Given the description of an element on the screen output the (x, y) to click on. 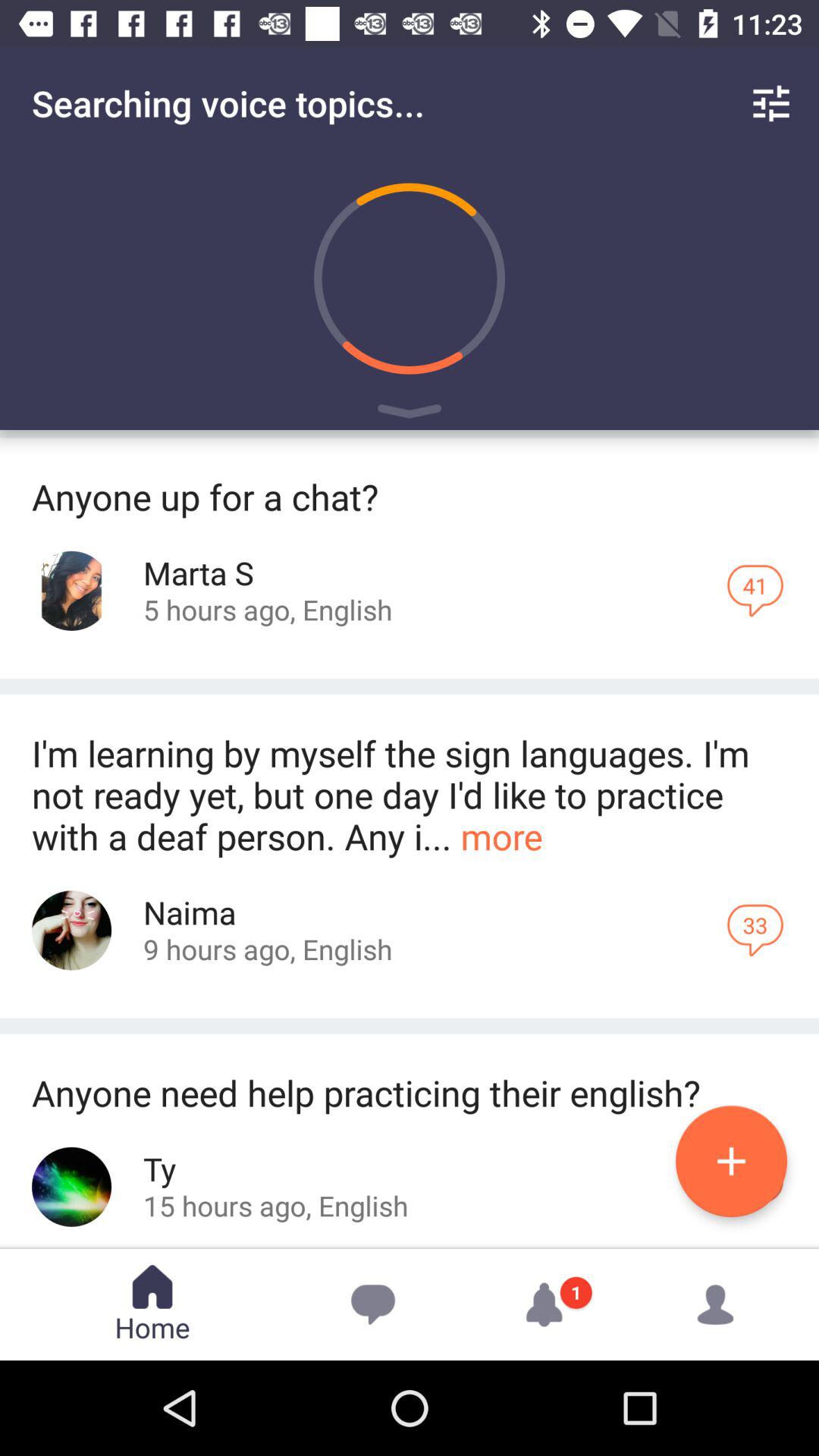
profile page (71, 1186)
